Given the description of an element on the screen output the (x, y) to click on. 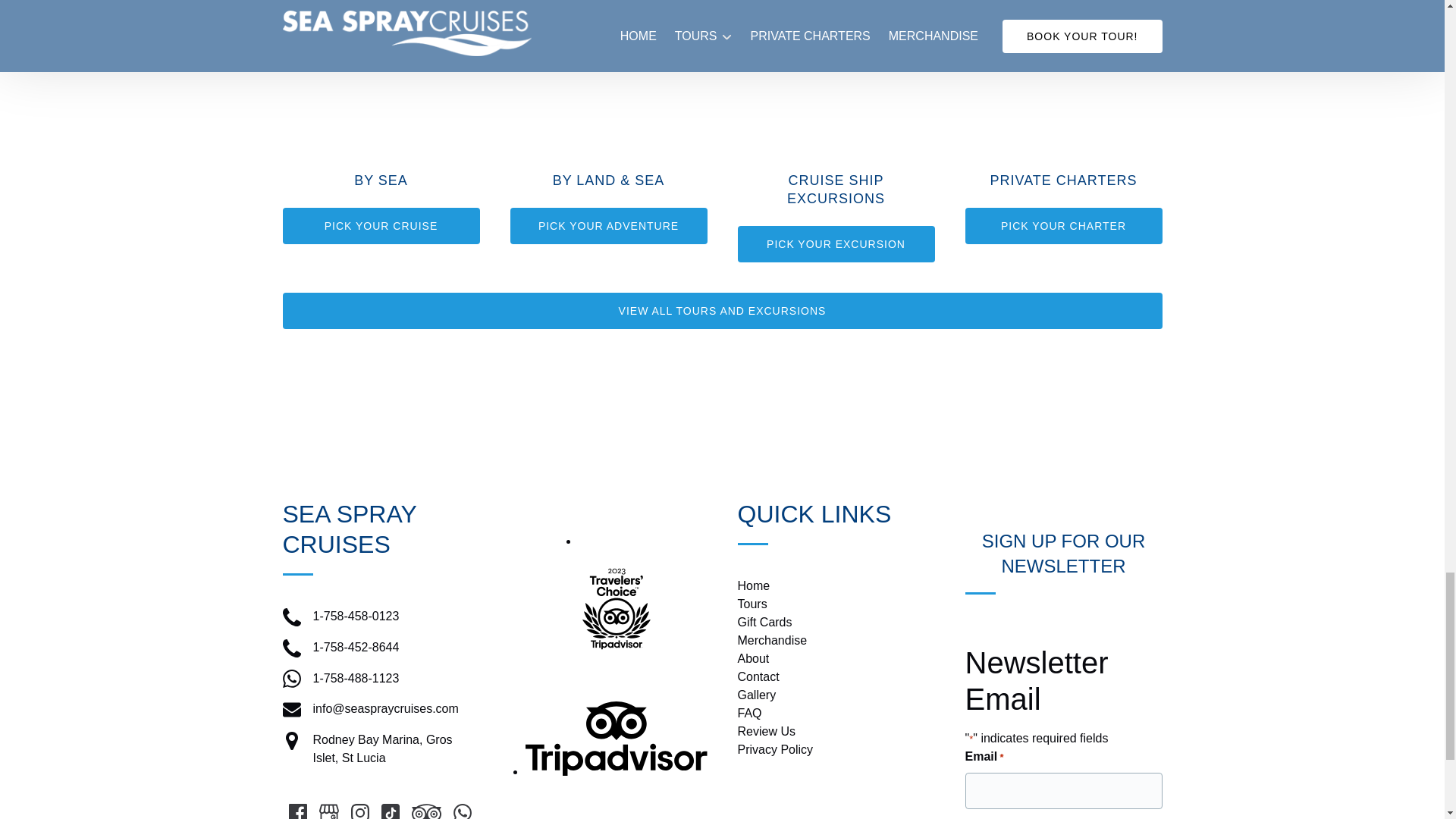
PICK YOUR ADVENTURE (607, 226)
PICK YOUR EXCURSION (835, 244)
Map Marker (290, 741)
Phone (290, 648)
Phone (290, 617)
PICK YOUR CRUISE (380, 226)
Envelope (290, 710)
PICK YOUR CHARTER (1062, 226)
